Given the description of an element on the screen output the (x, y) to click on. 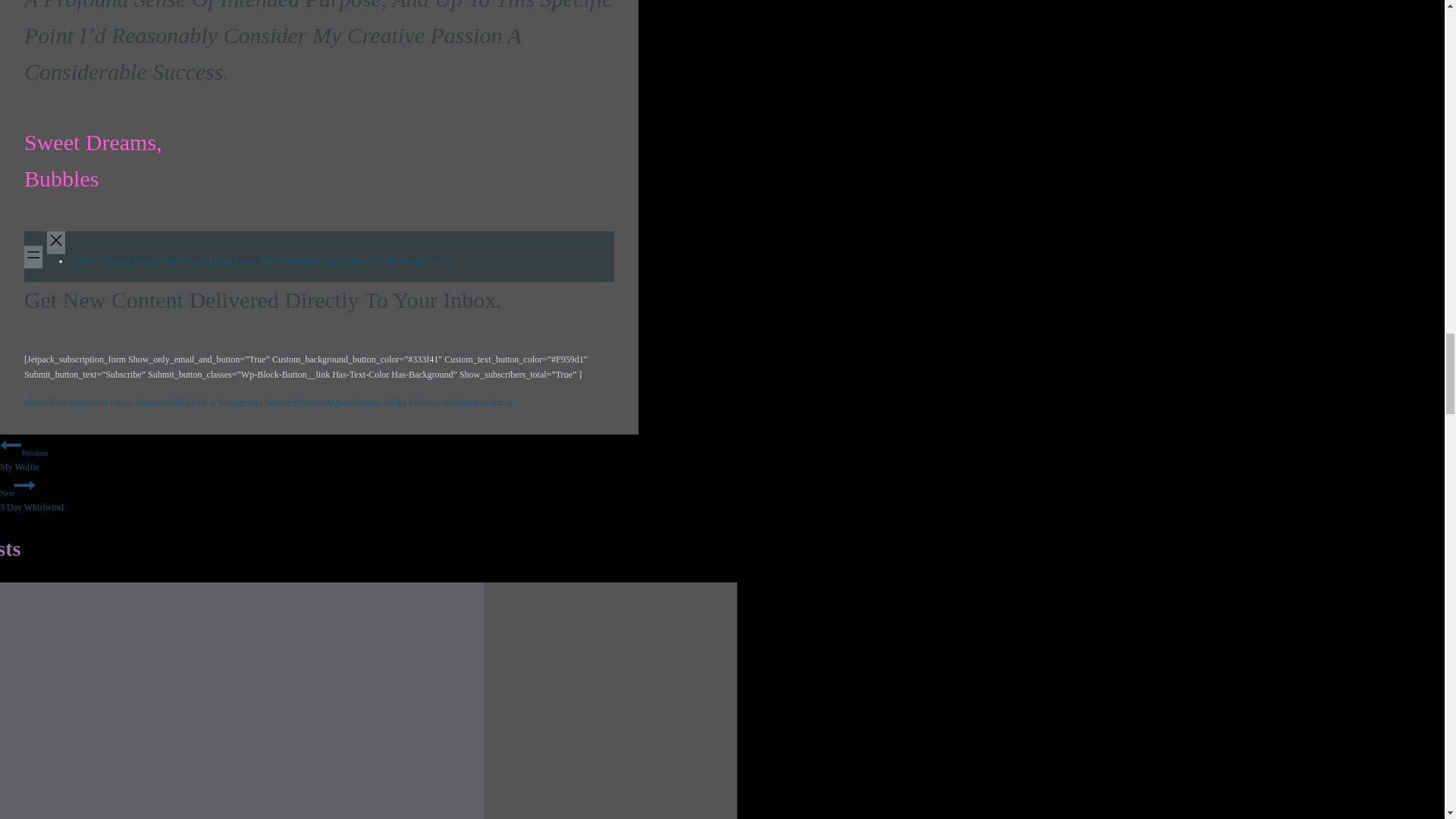
Continue (24, 485)
Positive (309, 402)
bubbles (41, 402)
Wolfman (493, 402)
Wolfie (459, 402)
coronavirus covid-19 (101, 402)
Quote (339, 402)
journal (160, 402)
Previous (10, 444)
Life of A Transgender Woman (234, 402)
